Given the description of an element on the screen output the (x, y) to click on. 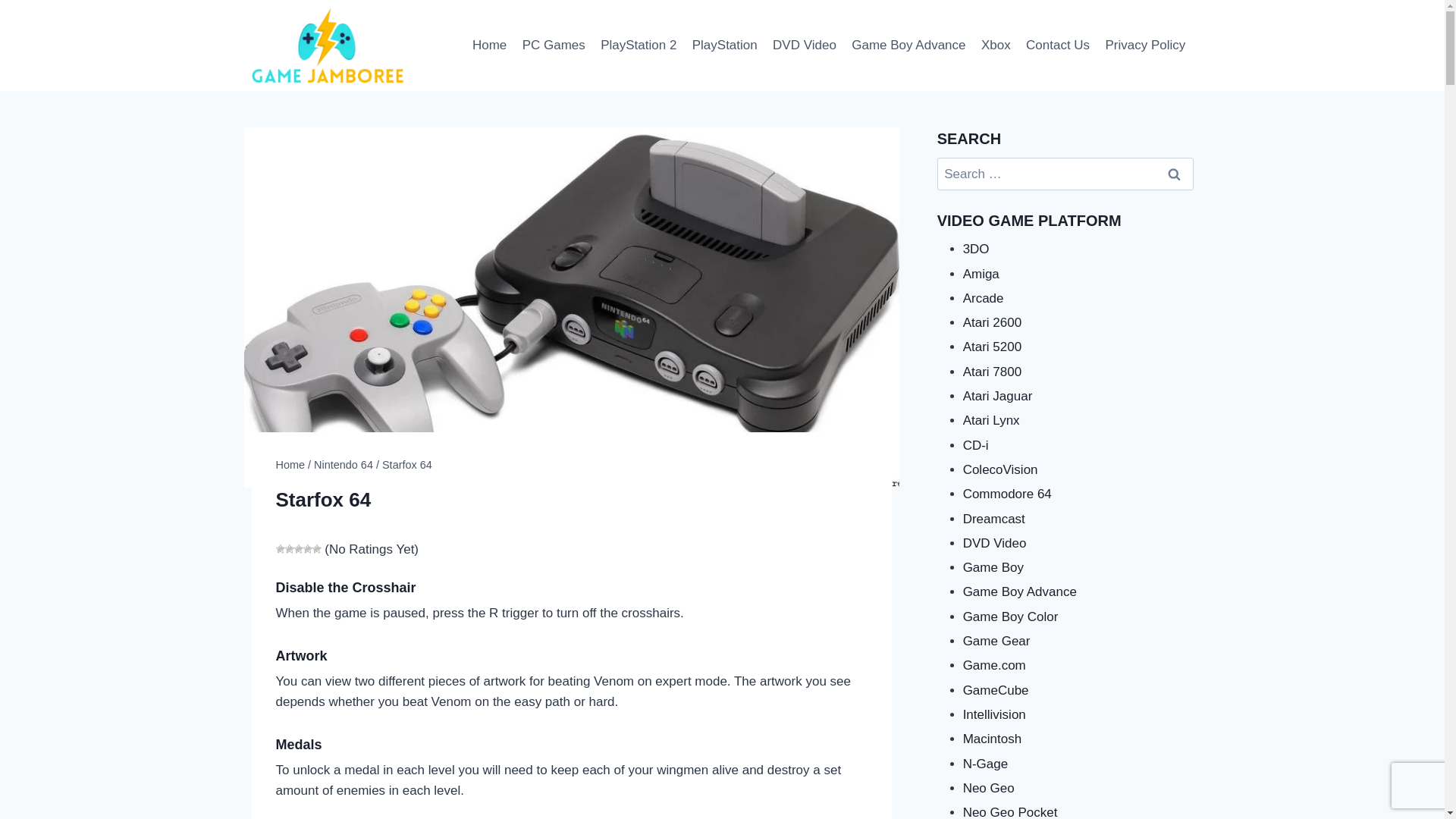
1 Star (280, 548)
Privacy Policy (1144, 45)
Game Boy Advance (909, 45)
Xbox (995, 45)
Nintendo 64 (343, 464)
Home (489, 45)
3 Stars (298, 548)
PlayStation (724, 45)
PlayStation 2 (638, 45)
4 Stars (307, 548)
